Given the description of an element on the screen output the (x, y) to click on. 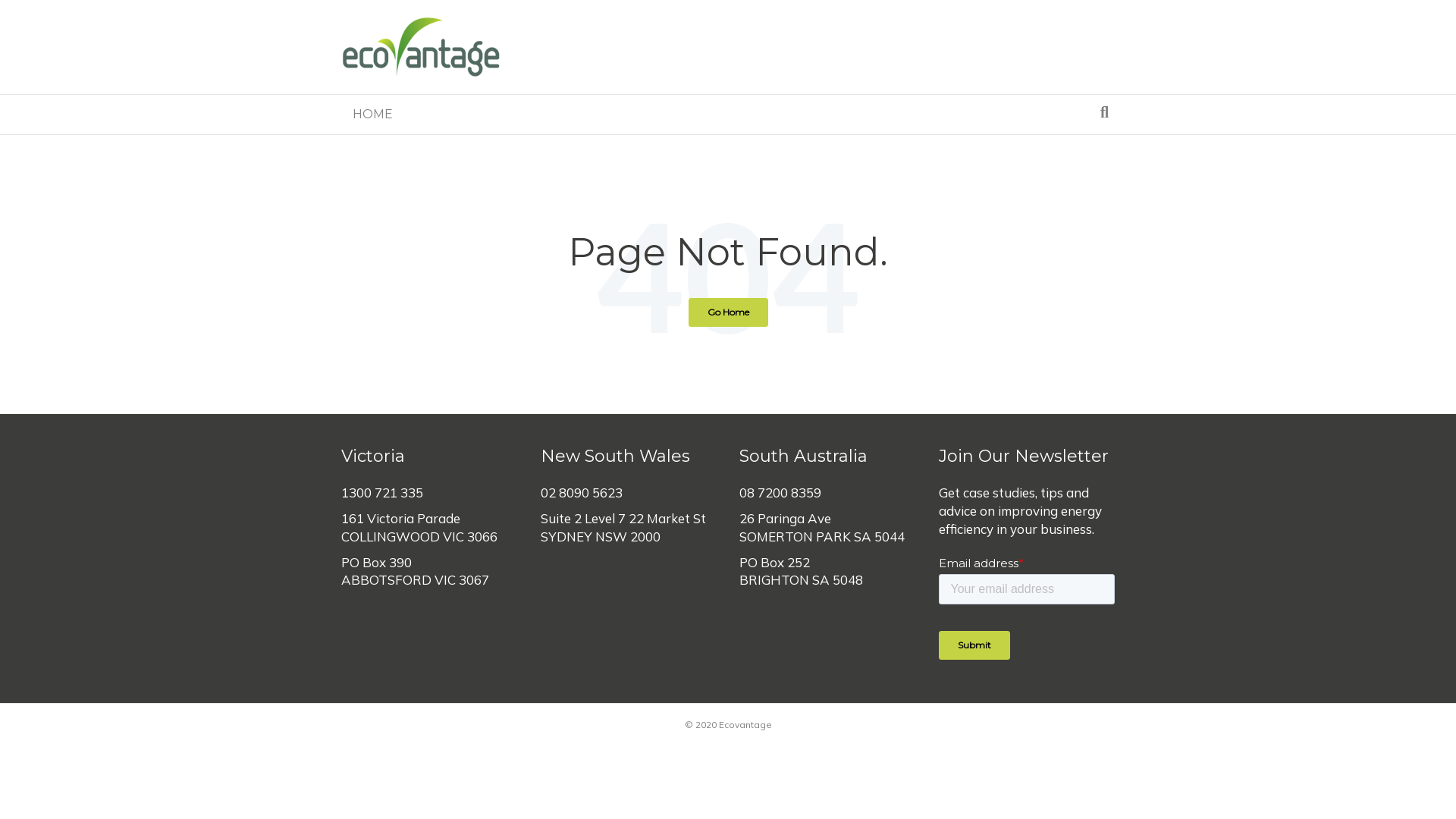
Go Home Element type: text (728, 312)
Ecovantage Element type: hover (421, 46)
HOME Element type: text (372, 114)
Submit Element type: text (974, 644)
